Given the description of an element on the screen output the (x, y) to click on. 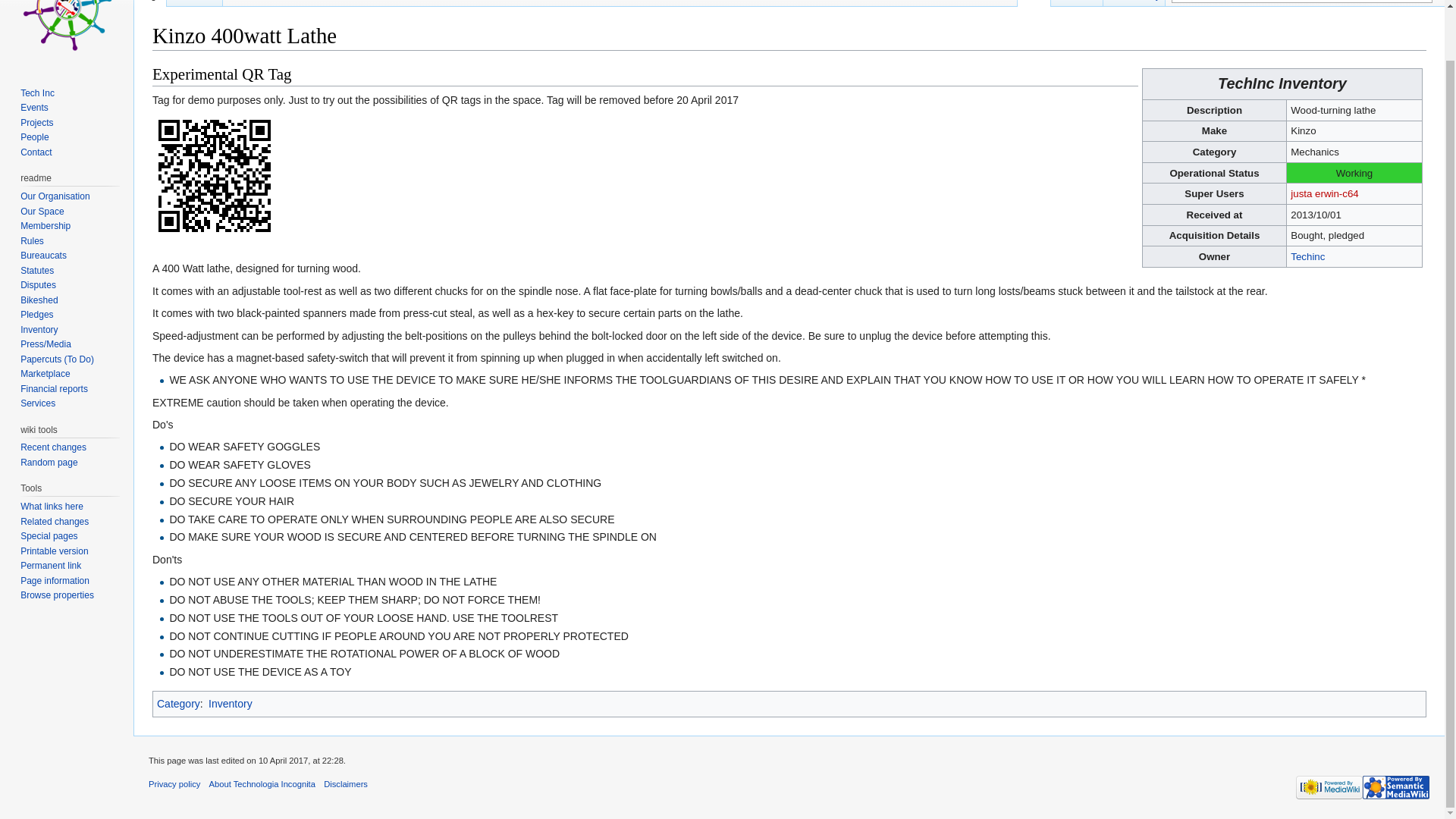
Techinc (1307, 256)
Disputes (38, 285)
Bureaucats (43, 255)
Our Space (42, 211)
Page (150, 3)
Visit the main page (66, 33)
People (34, 136)
Tech Inc (37, 92)
Bikeshed (39, 299)
